Given the description of an element on the screen output the (x, y) to click on. 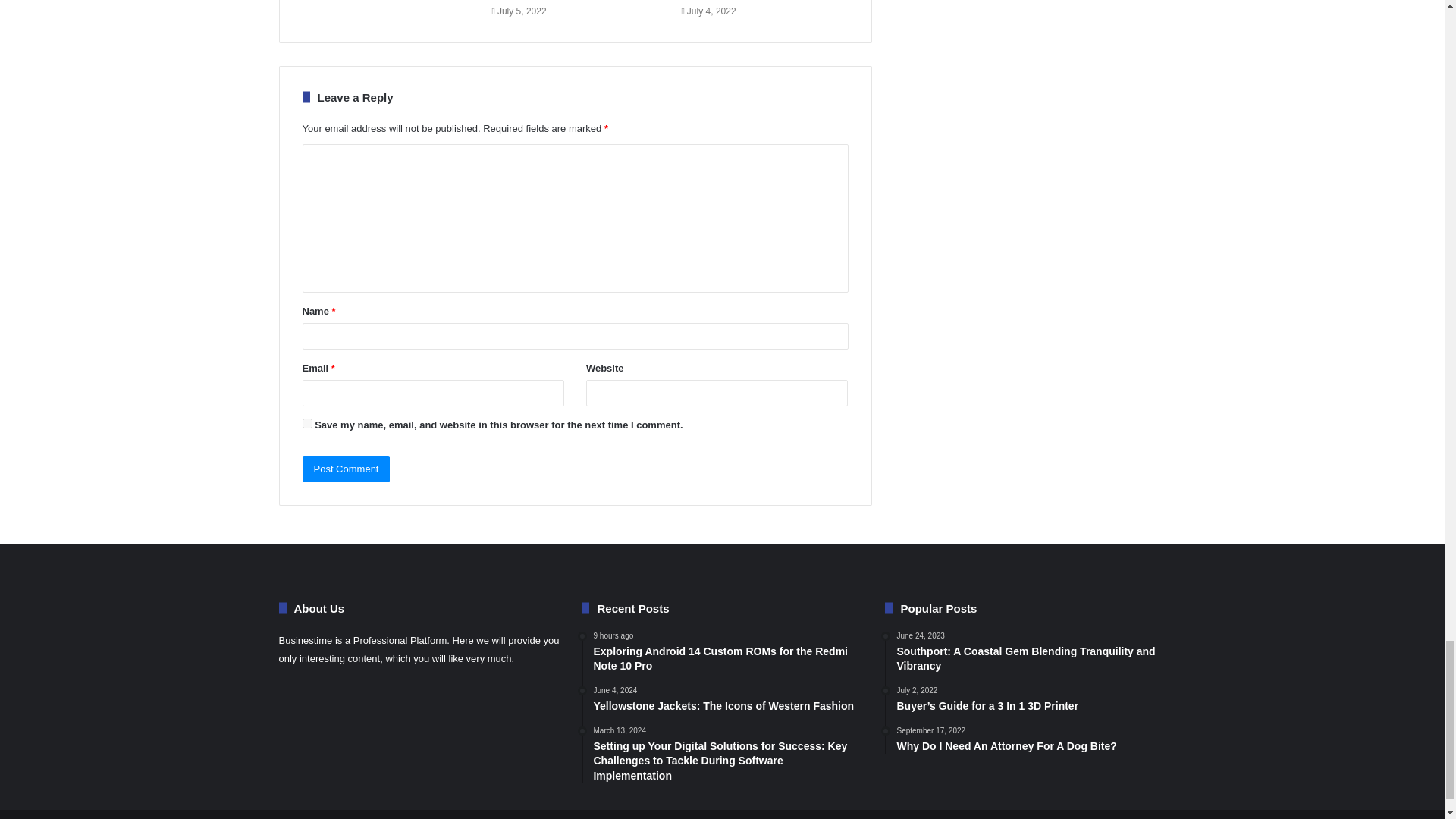
Post Comment (345, 468)
yes (306, 423)
